Given the description of an element on the screen output the (x, y) to click on. 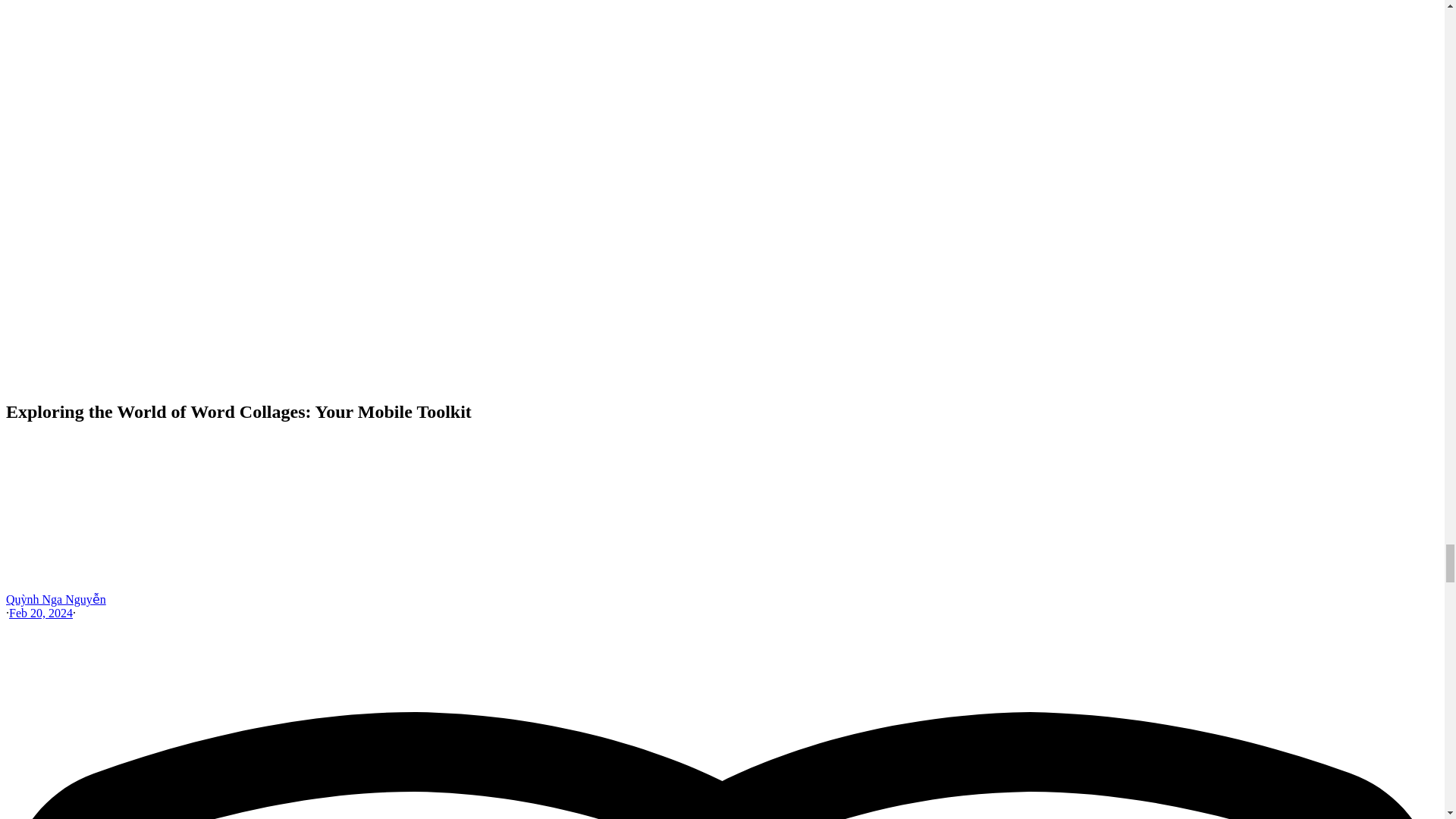
Feb 20, 2024 (40, 612)
